Given the description of an element on the screen output the (x, y) to click on. 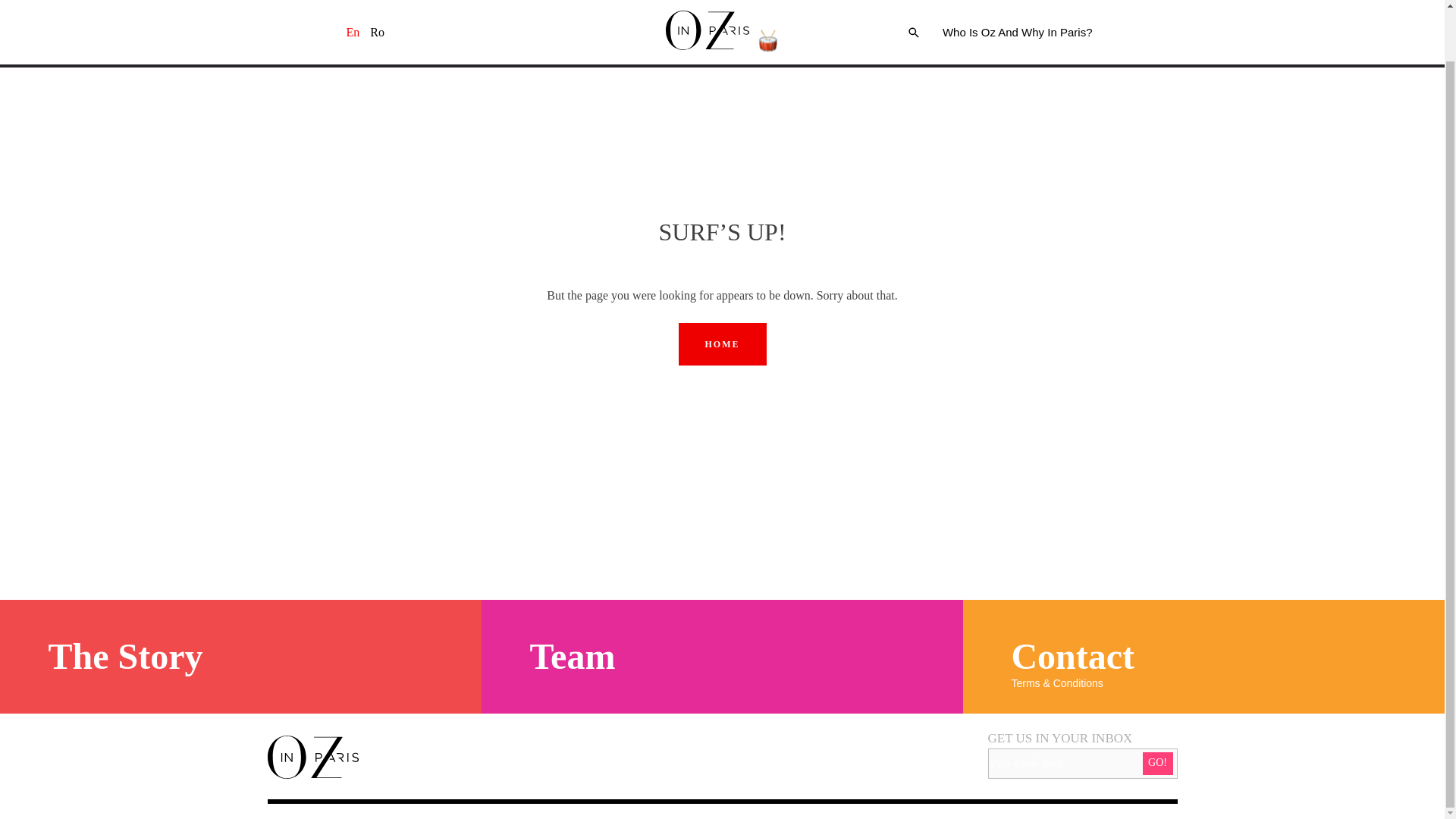
The Story (125, 656)
Contact (1072, 656)
Search (1193, 277)
GO! (1156, 762)
Team (571, 656)
HOME (721, 343)
GO! (1156, 762)
